Given the description of an element on the screen output the (x, y) to click on. 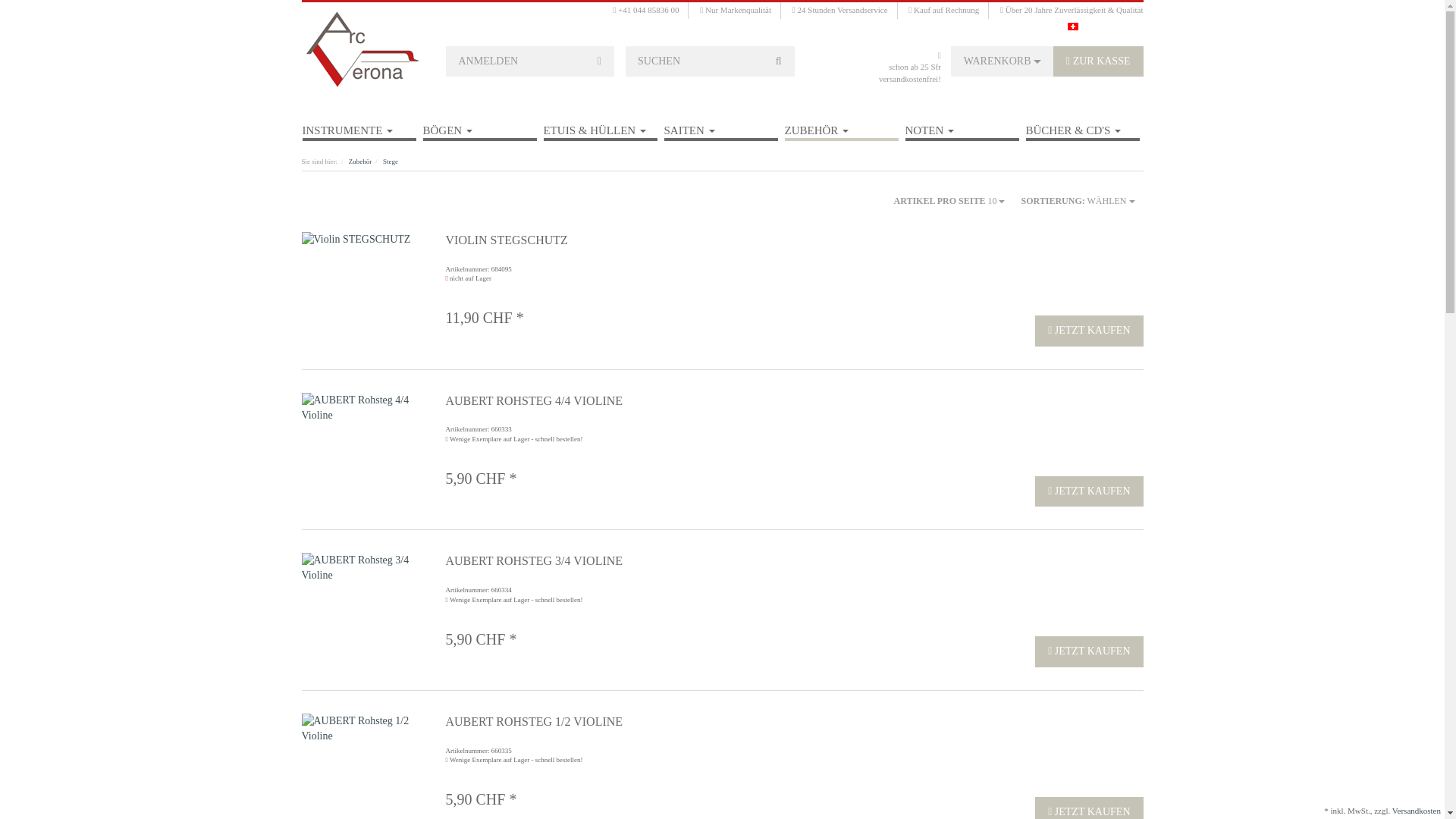
AUBERT Rohsteg 3/4 Violine   Element type: hover (362, 567)
WARENKORB Element type: text (1002, 61)
Deutsch Element type: hover (1072, 25)
VIOLIN STEGSCHUTZ Element type: text (686, 240)
NOTEN Element type: text (962, 125)
JETZT KAUFEN Element type: text (1088, 651)
ZUR KASSE Element type: text (1097, 61)
Violin STEGSCHUTZ   Element type: hover (362, 239)
SAITEN Element type: text (721, 125)
JETZT KAUFEN Element type: text (1088, 491)
AUBERT ROHSTEG 4/4 VIOLINE Element type: text (686, 400)
ANMELDEN Element type: text (530, 61)
Arc-Verona Element type: hover (362, 47)
JETZT KAUFEN Element type: text (1088, 330)
AUBERT Rohsteg 4/4 Violine   Element type: hover (362, 407)
Suchen Element type: hover (778, 61)
AUBERT Rohsteg 1/2 Violine   Element type: hover (362, 728)
Stege Element type: text (390, 161)
Versandkosten Element type: text (1416, 810)
ARTIKEL PRO SEITE 10 Element type: text (949, 200)
AUBERT ROHSTEG 3/4 VIOLINE Element type: text (686, 560)
AUBERT ROHSTEG 1/2 VIOLINE Element type: text (686, 721)
INSTRUMENTE Element type: text (358, 125)
